Given the description of an element on the screen output the (x, y) to click on. 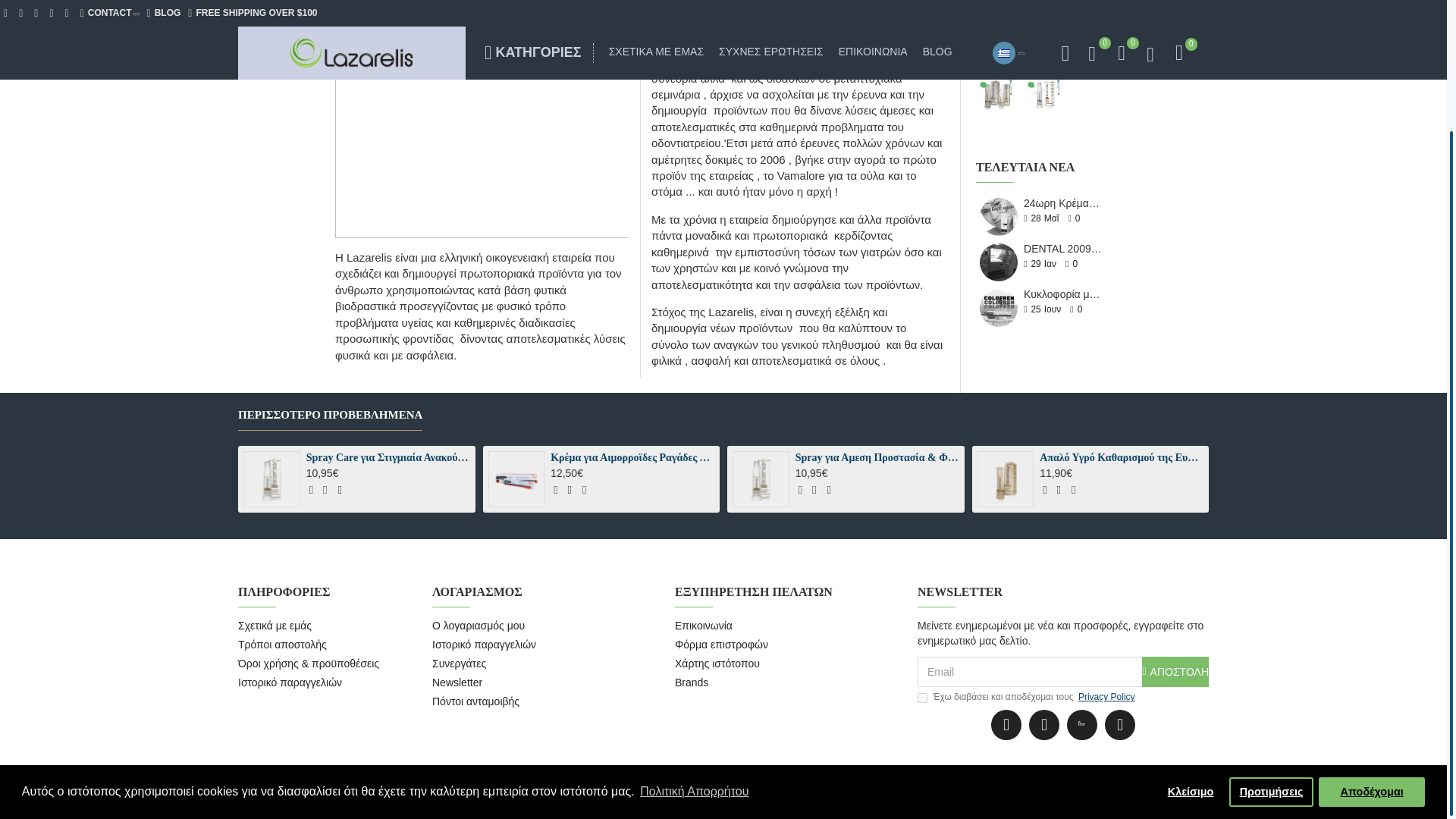
DENTAL 2009 - LAZARELIS (998, 262)
1 (922, 697)
